Given the description of an element on the screen output the (x, y) to click on. 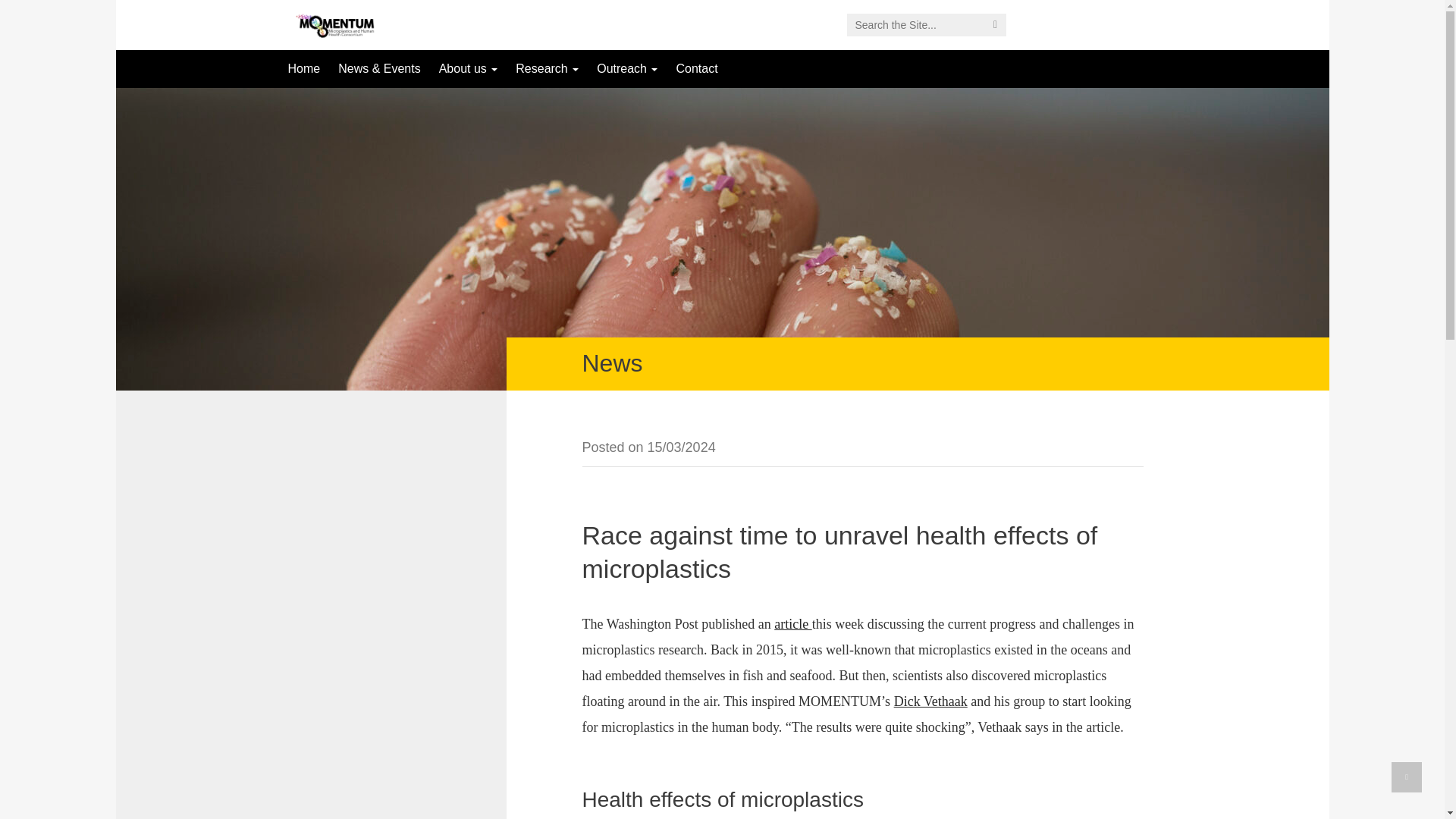
About us (467, 68)
Contact (696, 68)
Research (547, 68)
Home (304, 68)
Outreach (627, 68)
About us (467, 68)
Contact (696, 68)
Outreach (627, 68)
Home (304, 68)
article (792, 623)
Dick Vethaak (930, 701)
Research (547, 68)
